Given the description of an element on the screen output the (x, y) to click on. 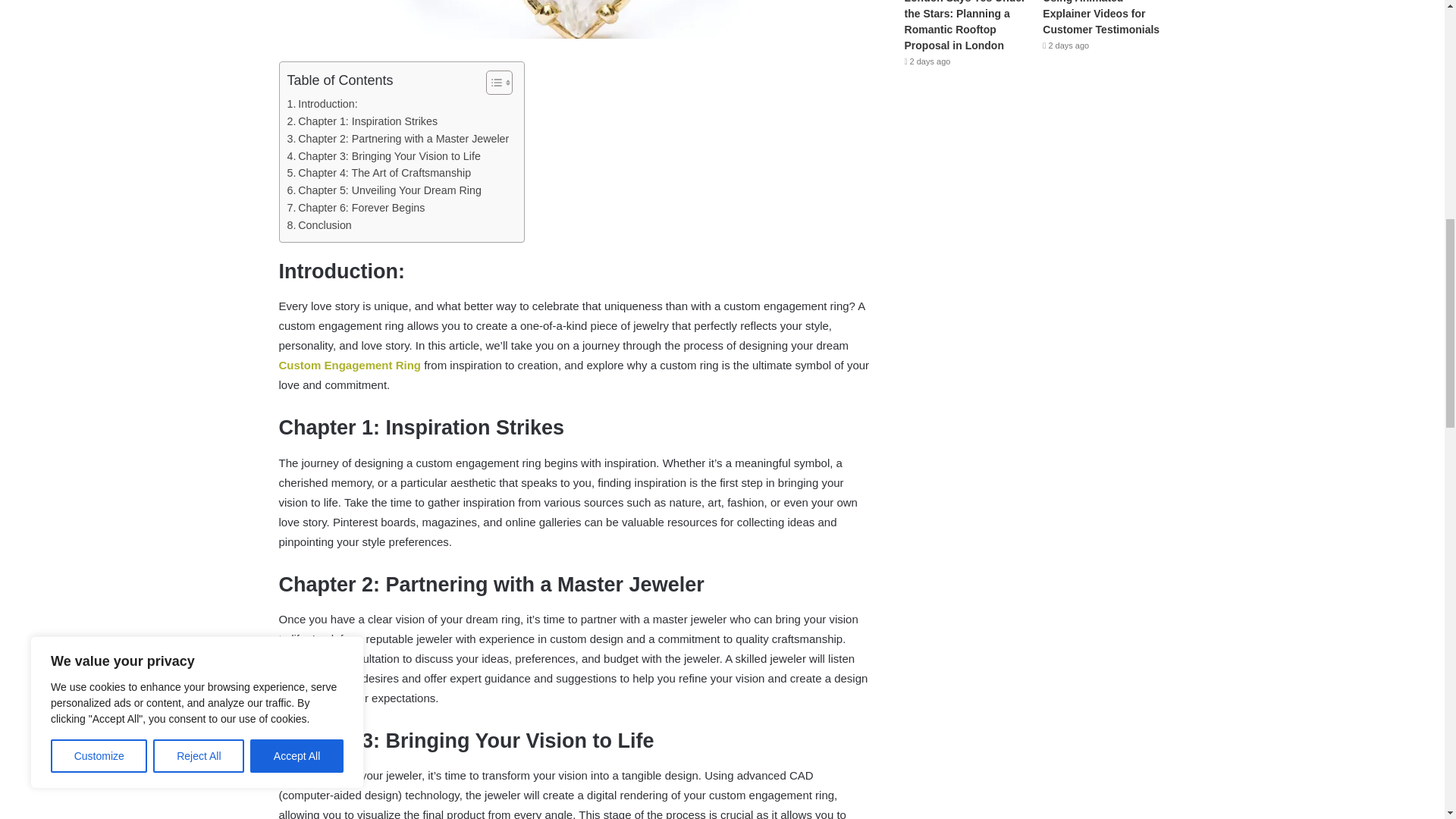
Chapter 5: Unveiling Your Dream Ring (383, 190)
Chapter 6: Forever Begins (355, 208)
Chapter 4: The Art of Craftsmanship (378, 172)
Chapter 1: Inspiration Strikes (362, 121)
Chapter 4: The Art of Craftsmanship (378, 172)
Chapter 3: Bringing Your Vision to Life (383, 156)
Introduction: (321, 104)
Chapter 6: Forever Begins (355, 208)
Chapter 2: Partnering with a Master Jeweler (397, 139)
Conclusion (318, 225)
Chapter 3: Bringing Your Vision to Life (383, 156)
Chapter 2: Partnering with a Master Jeweler (397, 139)
Introduction: (321, 104)
Conclusion (318, 225)
Chapter 5: Unveiling Your Dream Ring (383, 190)
